Given the description of an element on the screen output the (x, y) to click on. 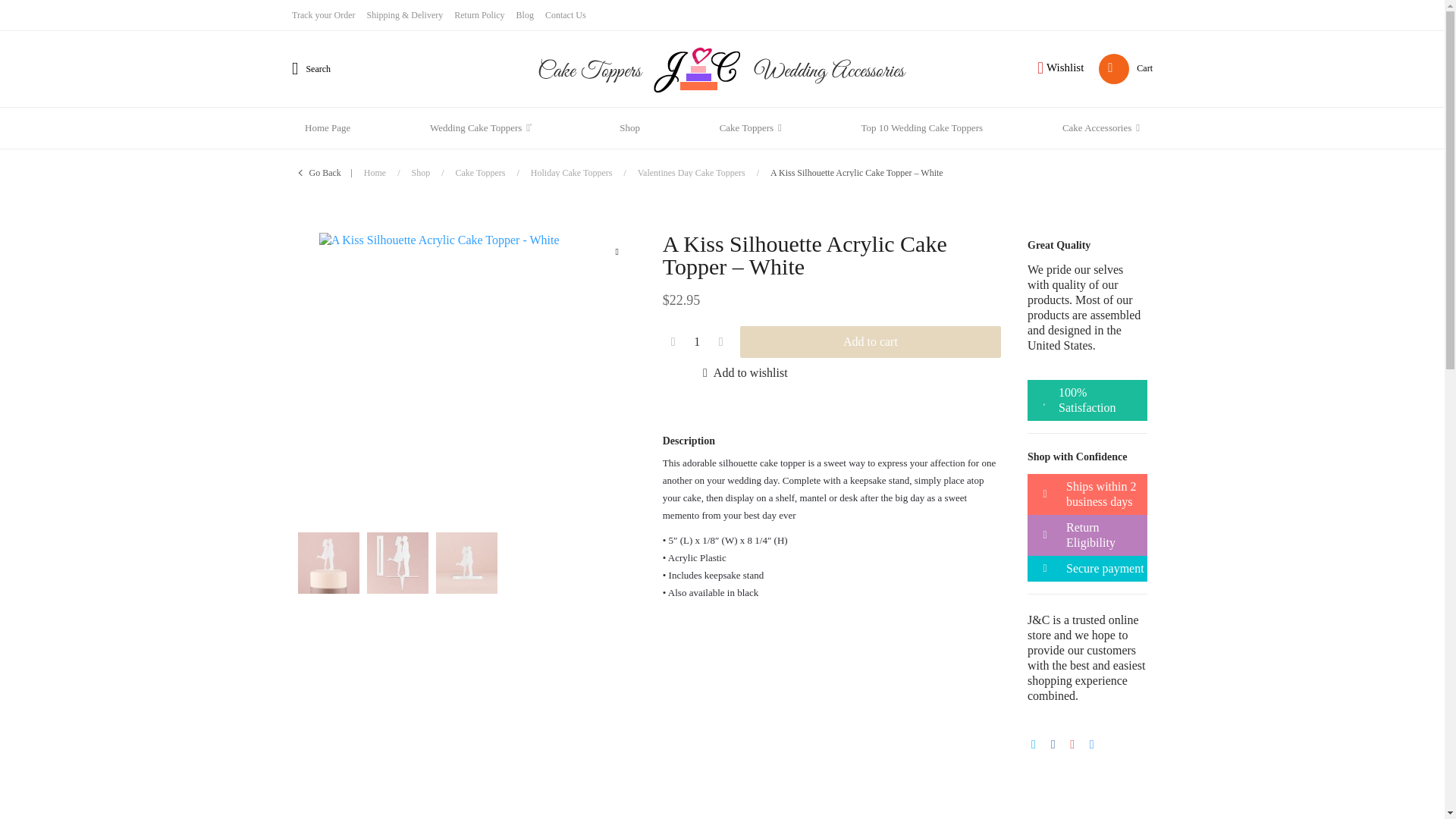
1 (697, 341)
a kiss silhouette acrylic cake topper white (466, 379)
Contact Us (570, 15)
Track your Order (329, 15)
Blog (530, 15)
Qty (697, 341)
Return Policy (484, 15)
